Given the description of an element on the screen output the (x, y) to click on. 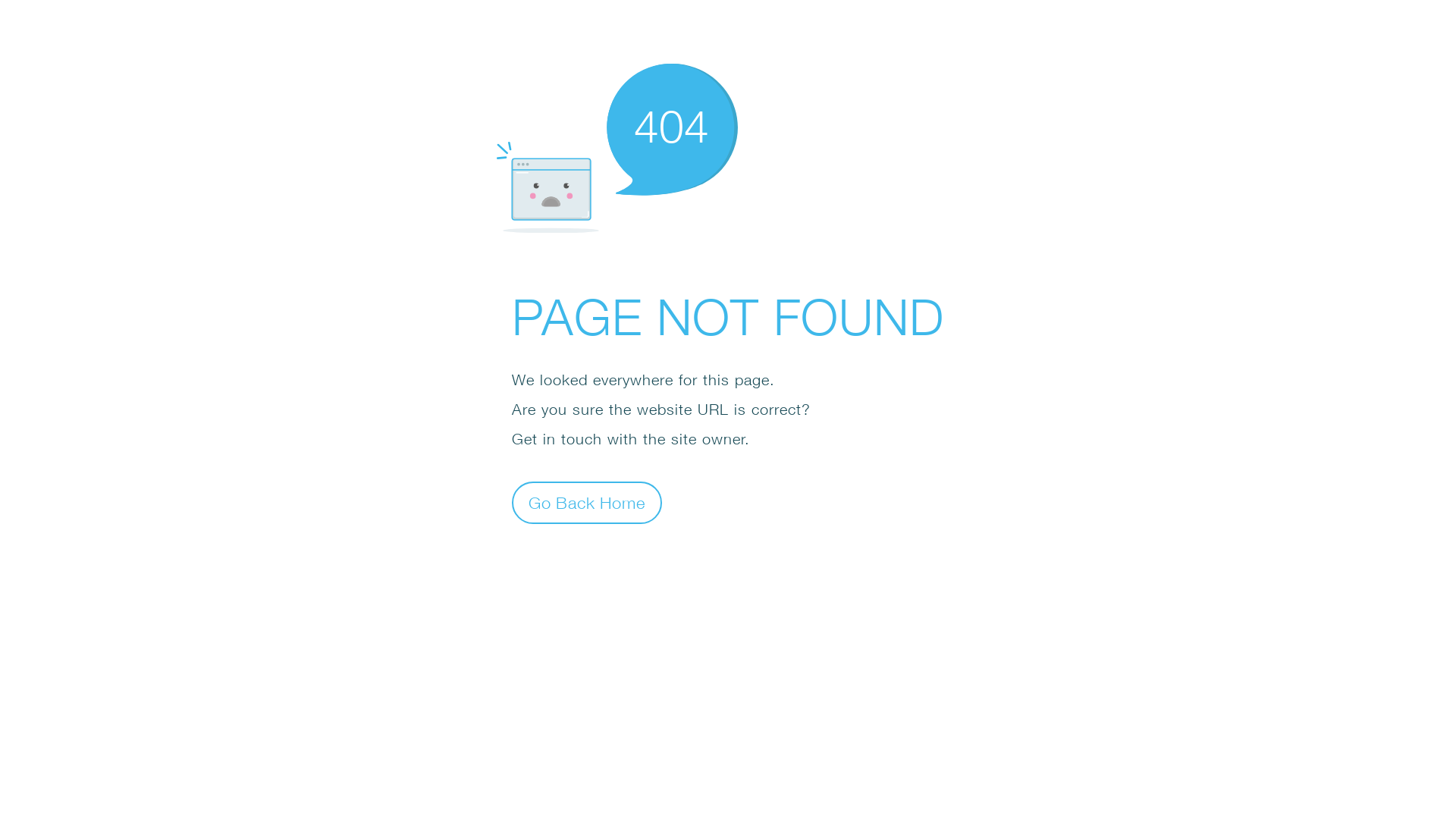
Go Back Home Element type: text (586, 502)
